Given the description of an element on the screen output the (x, y) to click on. 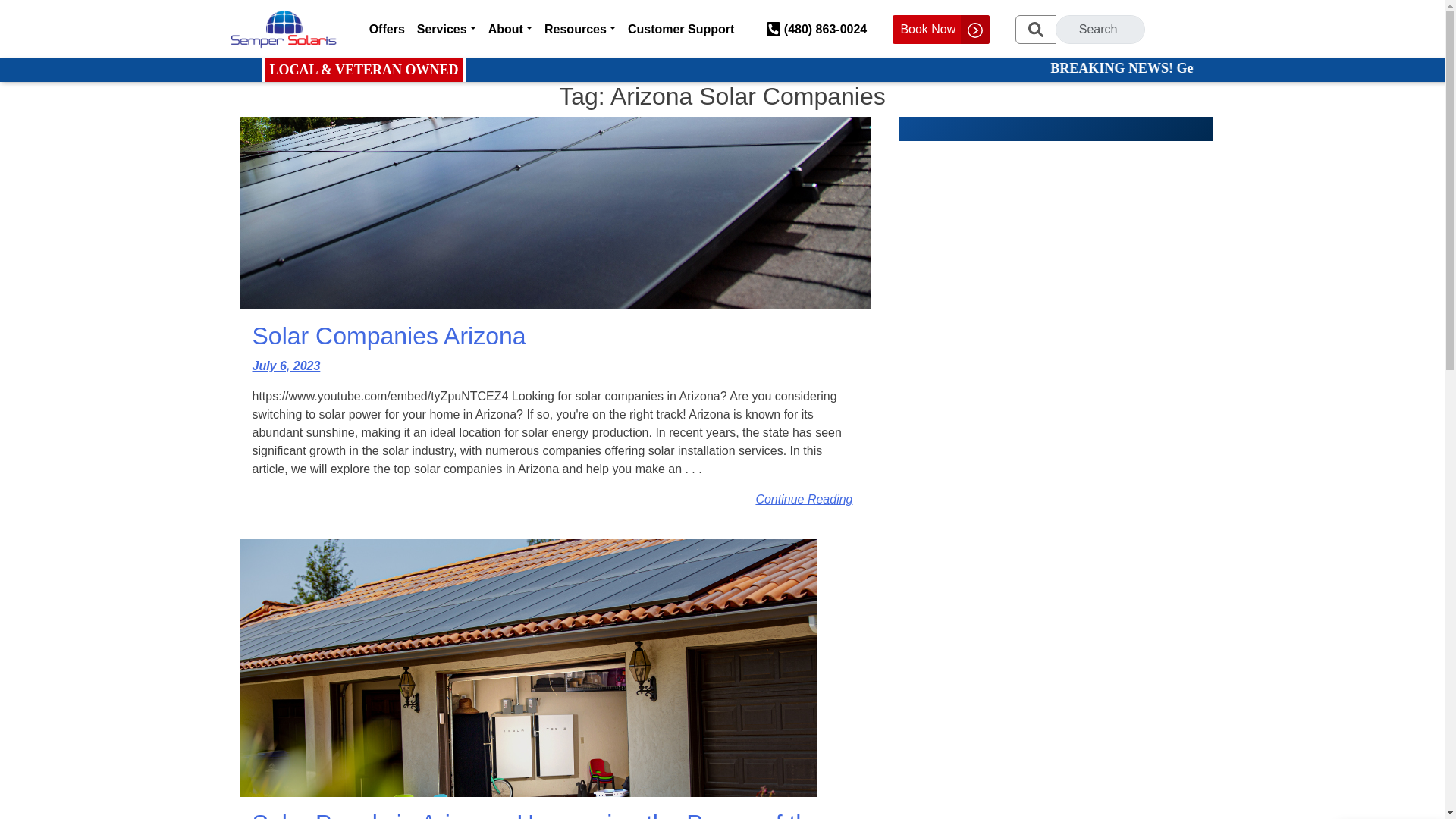
About (509, 29)
Offers (386, 29)
Customer Support (680, 29)
Services (445, 29)
July 6, 2023 (285, 365)
Continue Reading (803, 499)
Solar Companies Arizona (555, 335)
Resources (579, 29)
Book Now (941, 29)
